Given the description of an element on the screen output the (x, y) to click on. 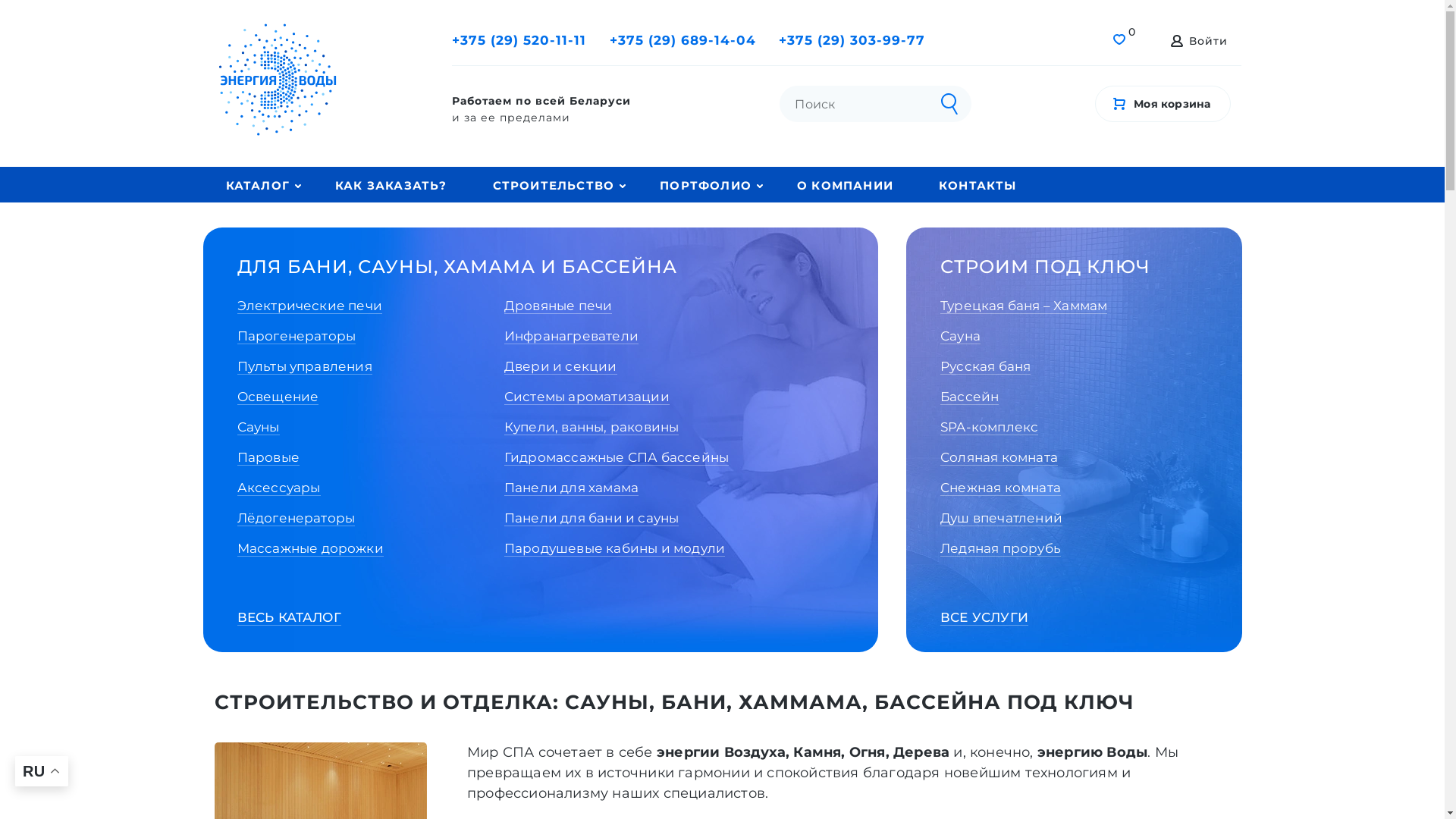
+375 (29) 689-14-04 Element type: text (682, 40)
+375 (29) 520-11-11 Element type: text (518, 40)
+375 (29) 303-99-77 Element type: text (851, 40)
